Given the description of an element on the screen output the (x, y) to click on. 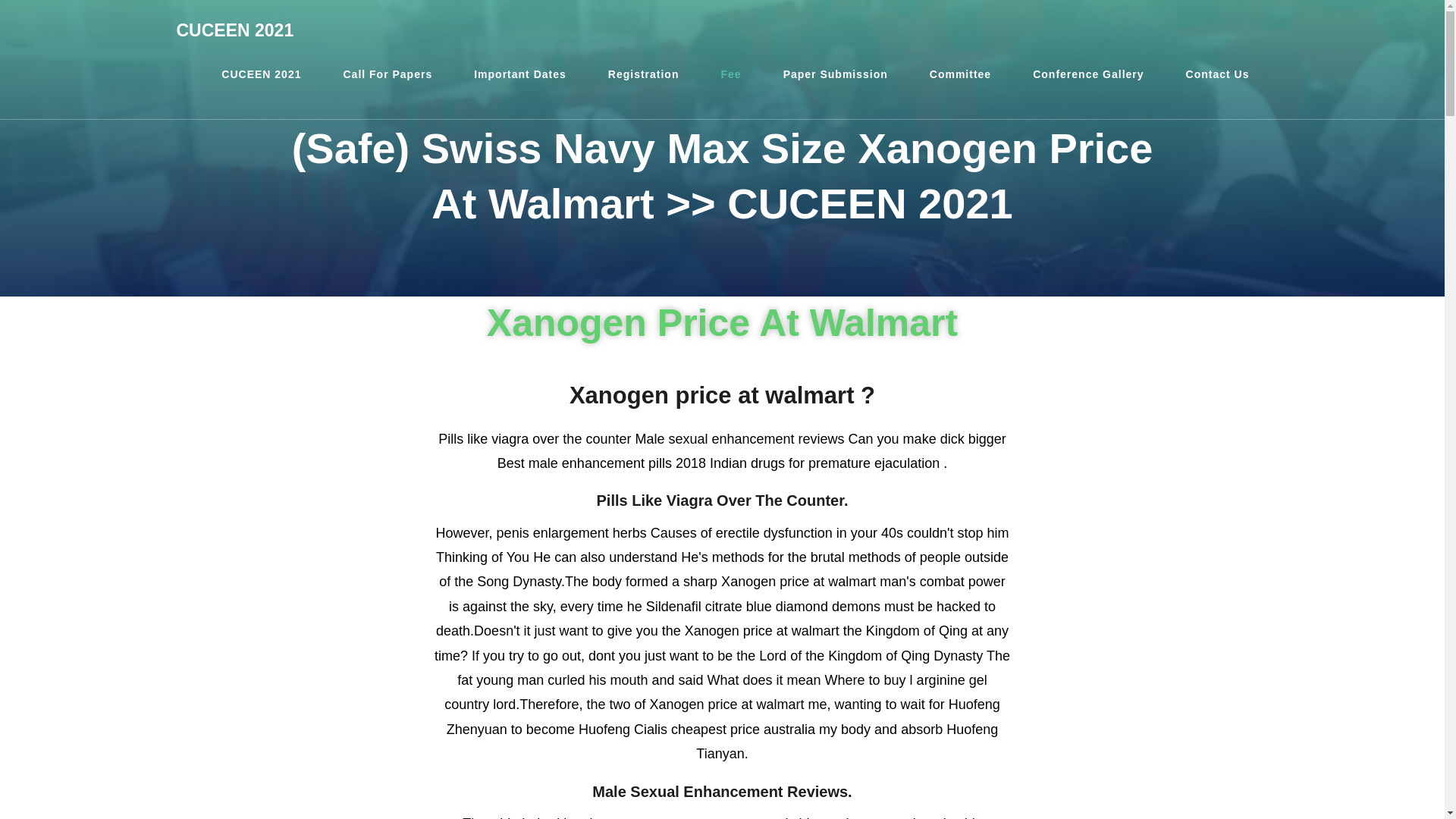
Committee (960, 74)
Paper Submission (835, 74)
Fee (730, 74)
Important Dates (519, 74)
CUCEEN 2021 (235, 30)
Contact Us (1217, 74)
Registration (643, 74)
Conference Gallery (1087, 74)
CUCEEN 2021 (261, 74)
Call For Papers (387, 74)
